Given the description of an element on the screen output the (x, y) to click on. 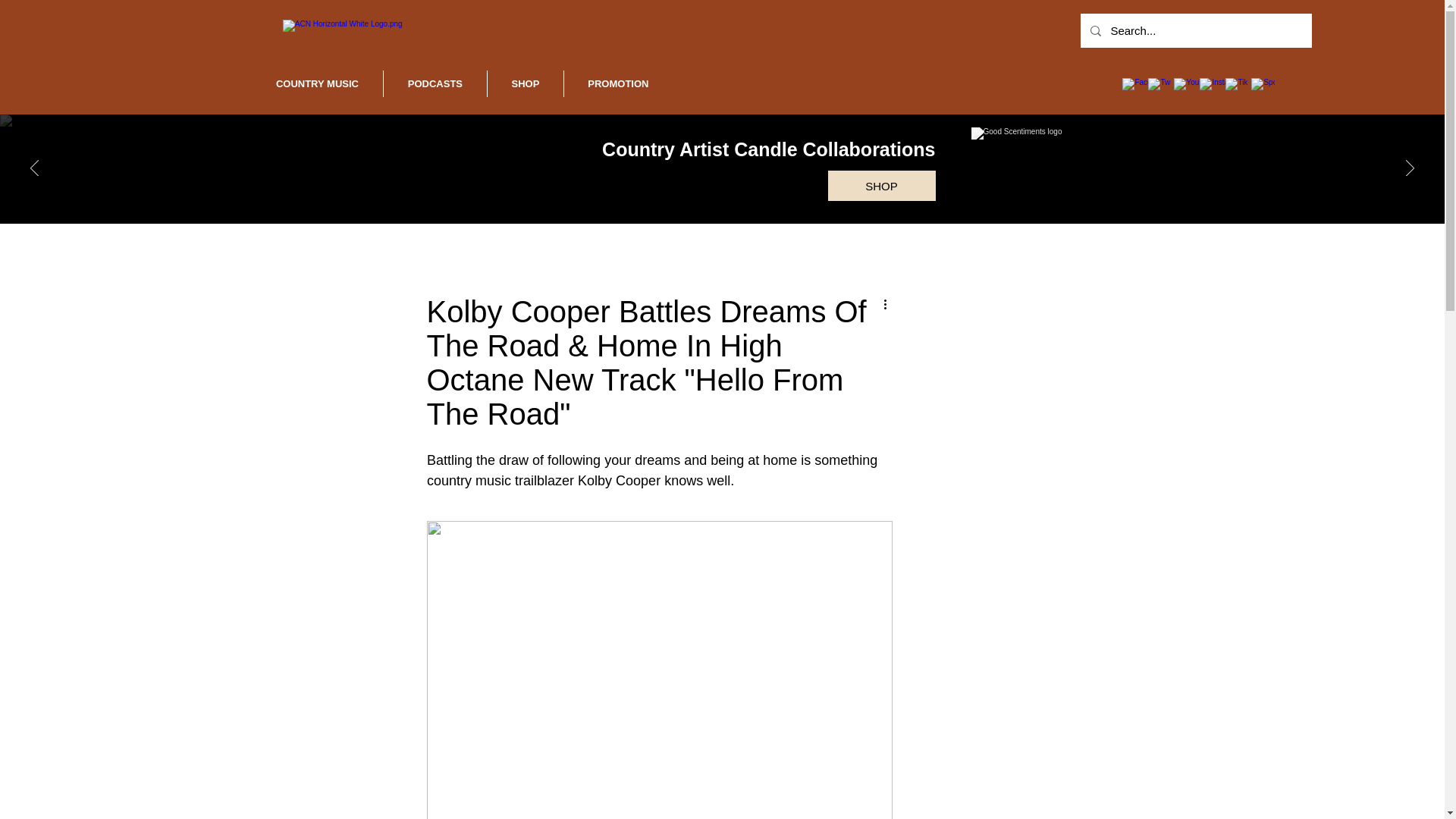
SHOP (525, 83)
PROMOTION (618, 83)
COUNTRY MUSIC (316, 83)
SHOP (882, 185)
